Given the description of an element on the screen output the (x, y) to click on. 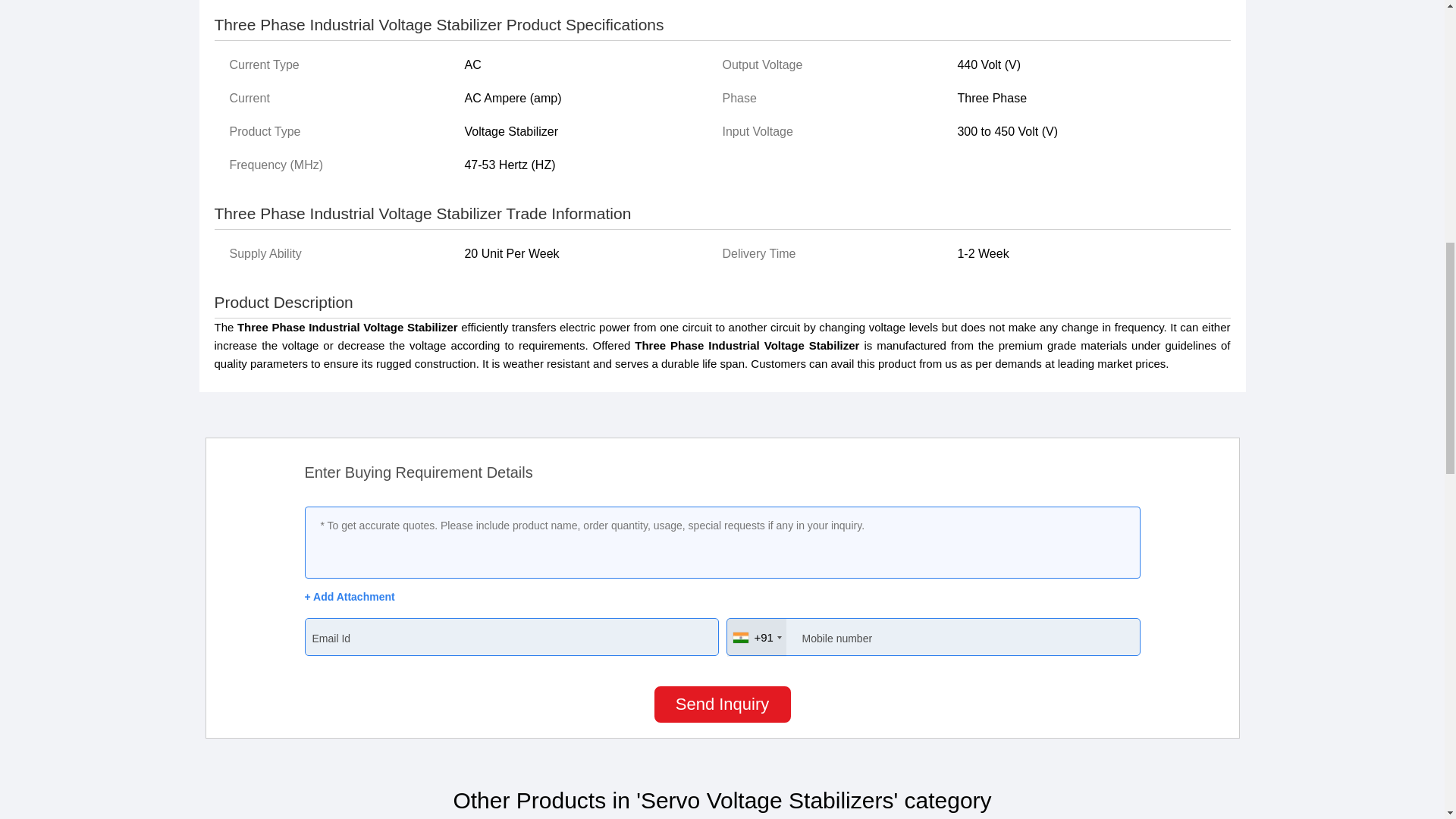
Send Inquiry (721, 704)
